Given the description of an element on the screen output the (x, y) to click on. 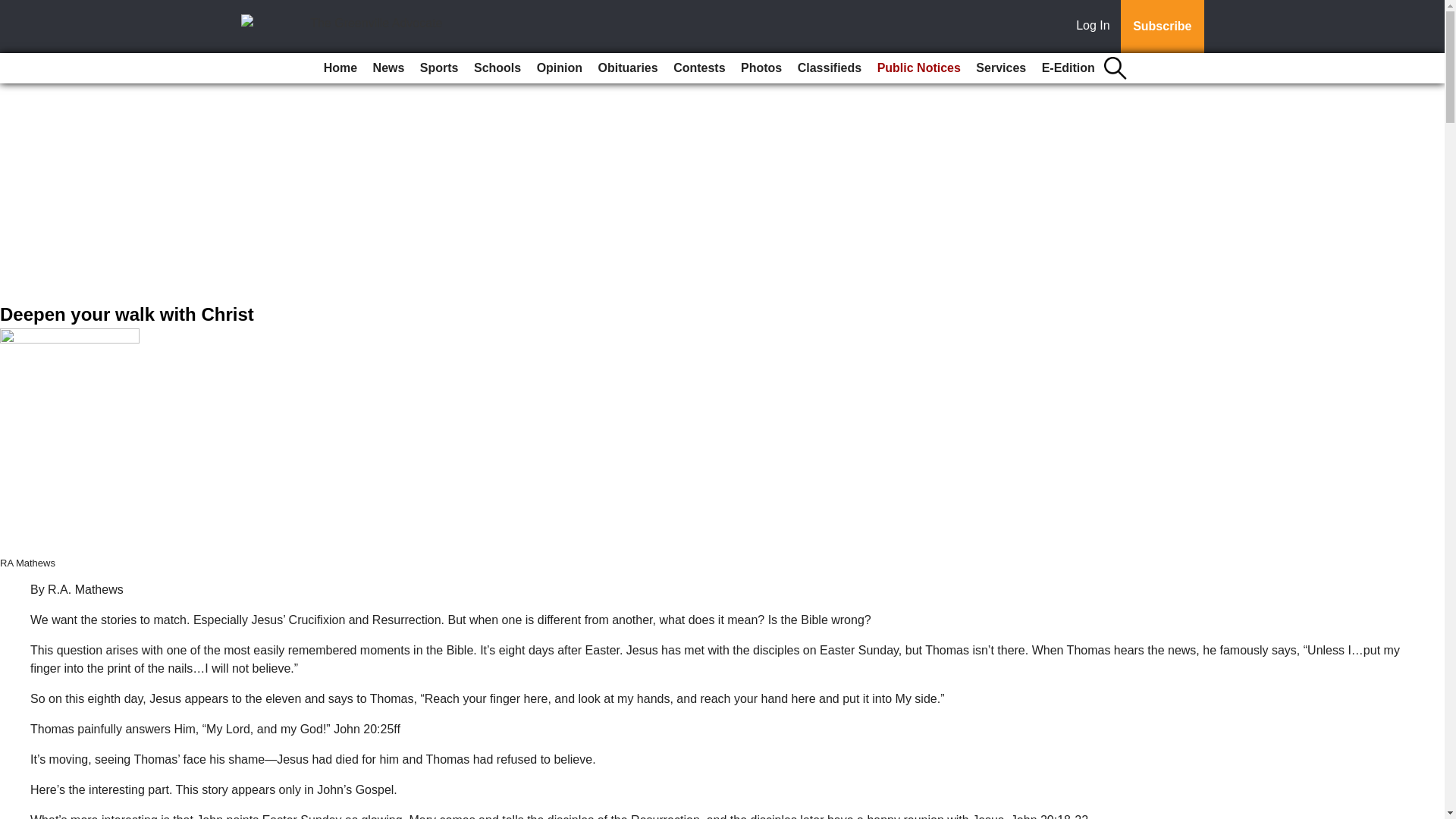
Subscribe (1162, 26)
Opinion (559, 68)
E-Edition (1067, 68)
Obituaries (627, 68)
Log In (1095, 26)
Contests (698, 68)
Classifieds (829, 68)
Home (339, 68)
Public Notices (918, 68)
Go (13, 9)
